Given the description of an element on the screen output the (x, y) to click on. 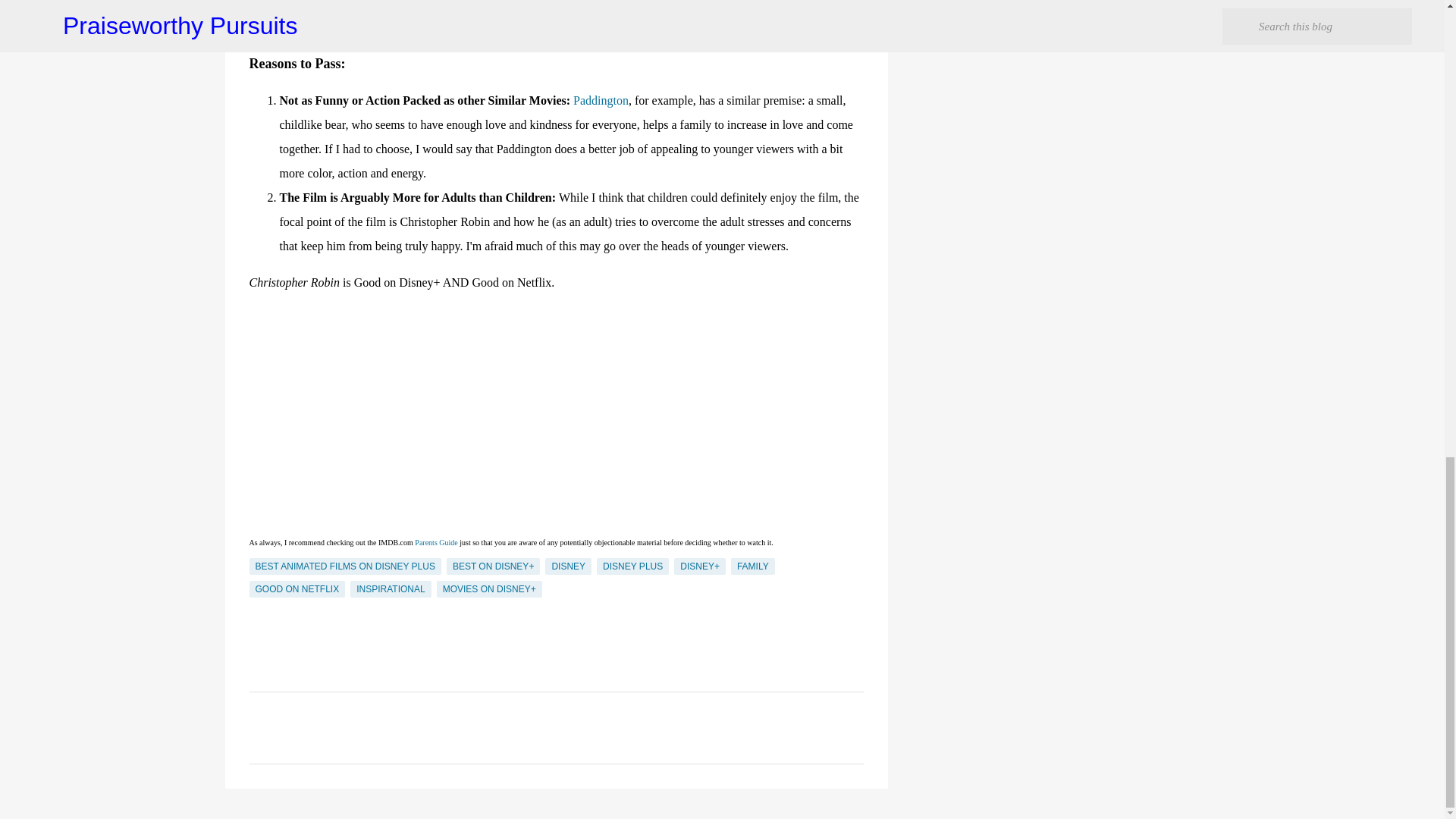
DISNEY PLUS (632, 565)
DISNEY (567, 565)
Paddington (600, 100)
FAMILY (752, 565)
GOOD ON NETFLIX (296, 588)
BEST ANIMATED FILMS ON DISNEY PLUS (344, 565)
Parents Guide (435, 540)
INSPIRATIONAL (390, 588)
childlike (403, 4)
